Given the description of an element on the screen output the (x, y) to click on. 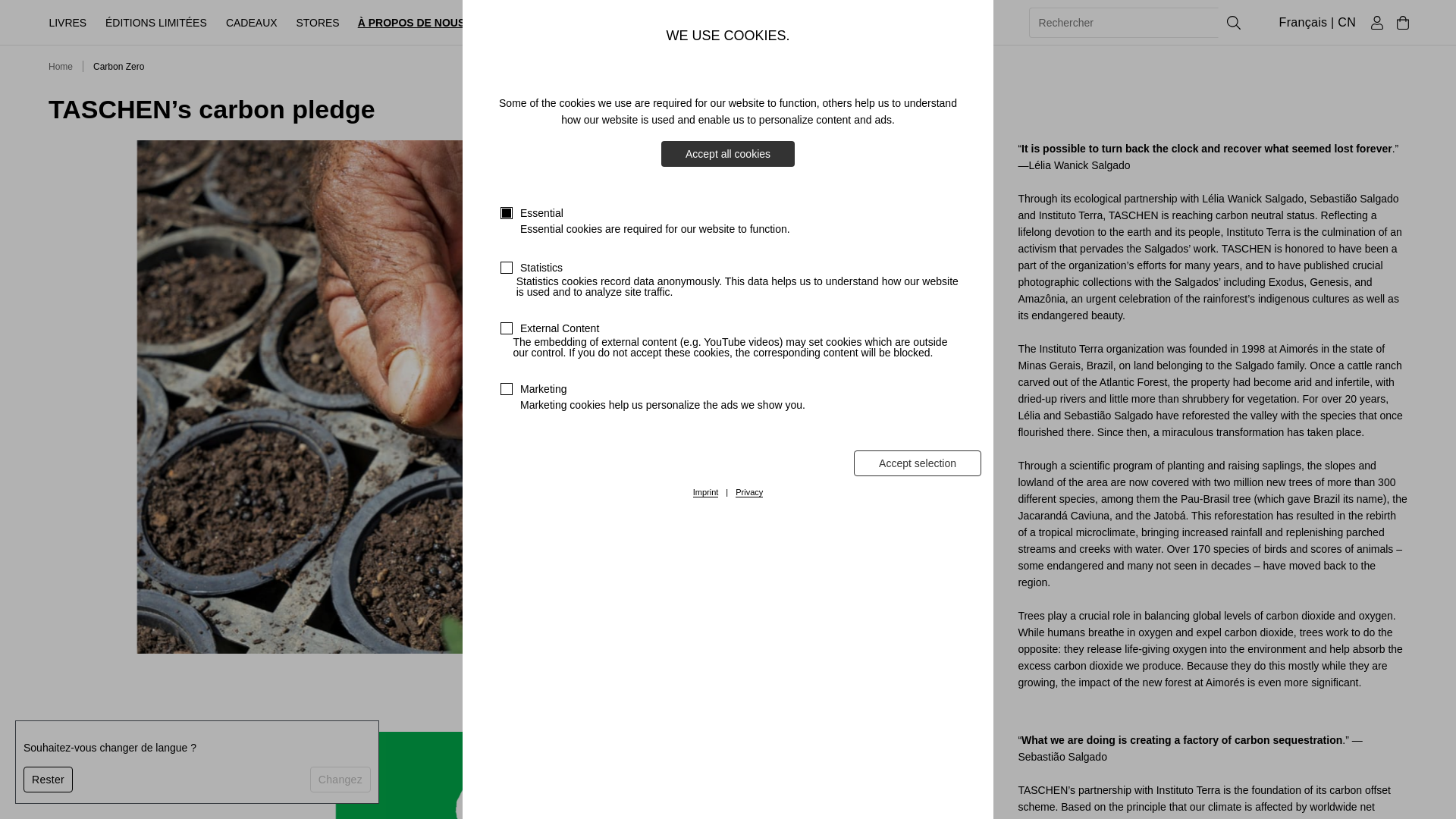
Accept selection (917, 462)
Home (60, 66)
on (506, 267)
on (506, 388)
Veuillez remplir ce champ. (1123, 22)
LIVRES (67, 22)
on (506, 213)
Imprint (706, 492)
Privacy (748, 492)
CADEAUX (251, 22)
Carbon Zero (118, 66)
Accept all cookies (727, 153)
Home (60, 66)
on (506, 328)
STORES (317, 22)
